Given the description of an element on the screen output the (x, y) to click on. 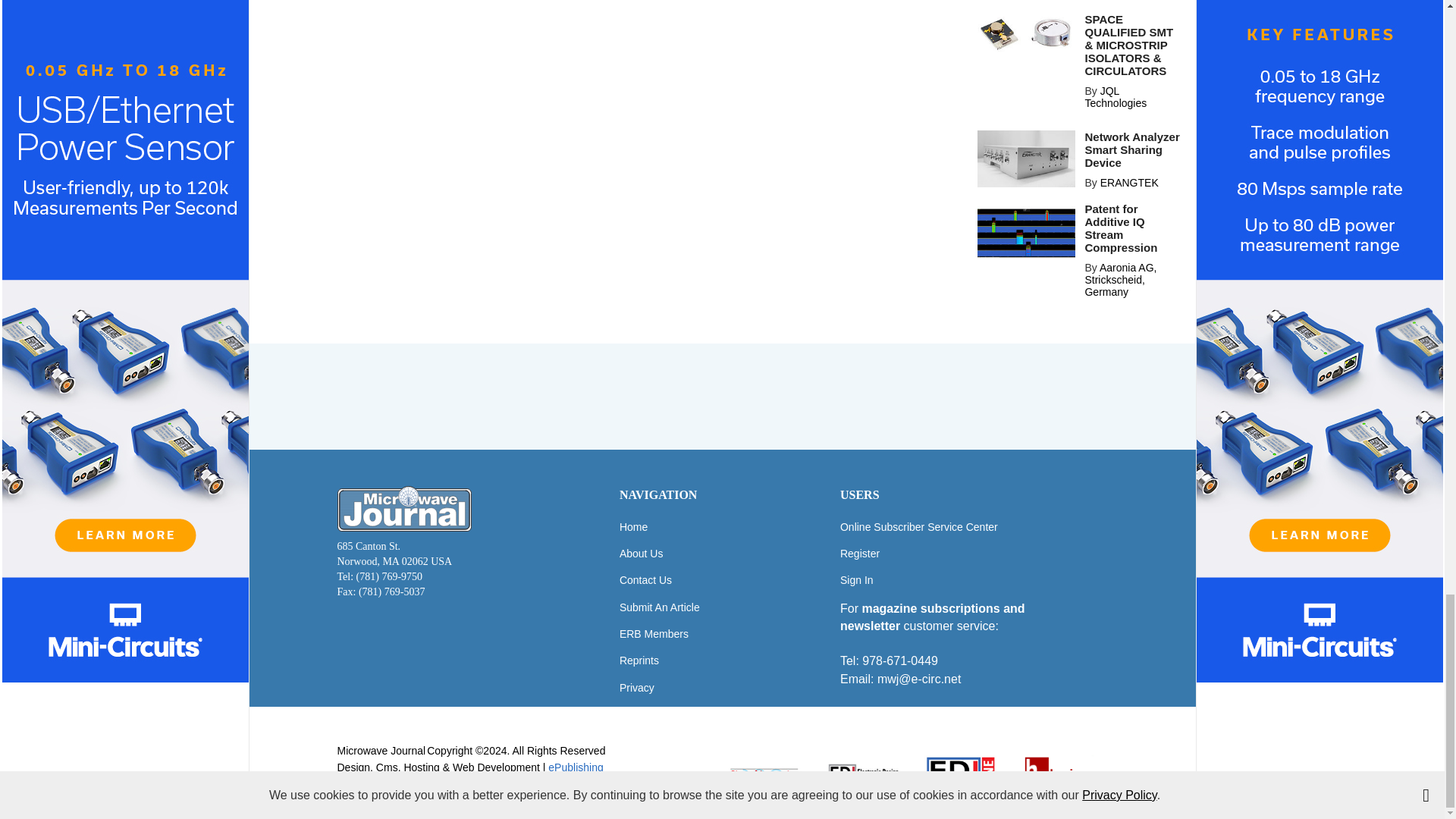
2.Product image.jpg (1025, 158)
Aaronia-4-22-24wjt.jpg (1025, 234)
final.jpg (1025, 34)
3rd party ad content (721, 396)
